Given the description of an element on the screen output the (x, y) to click on. 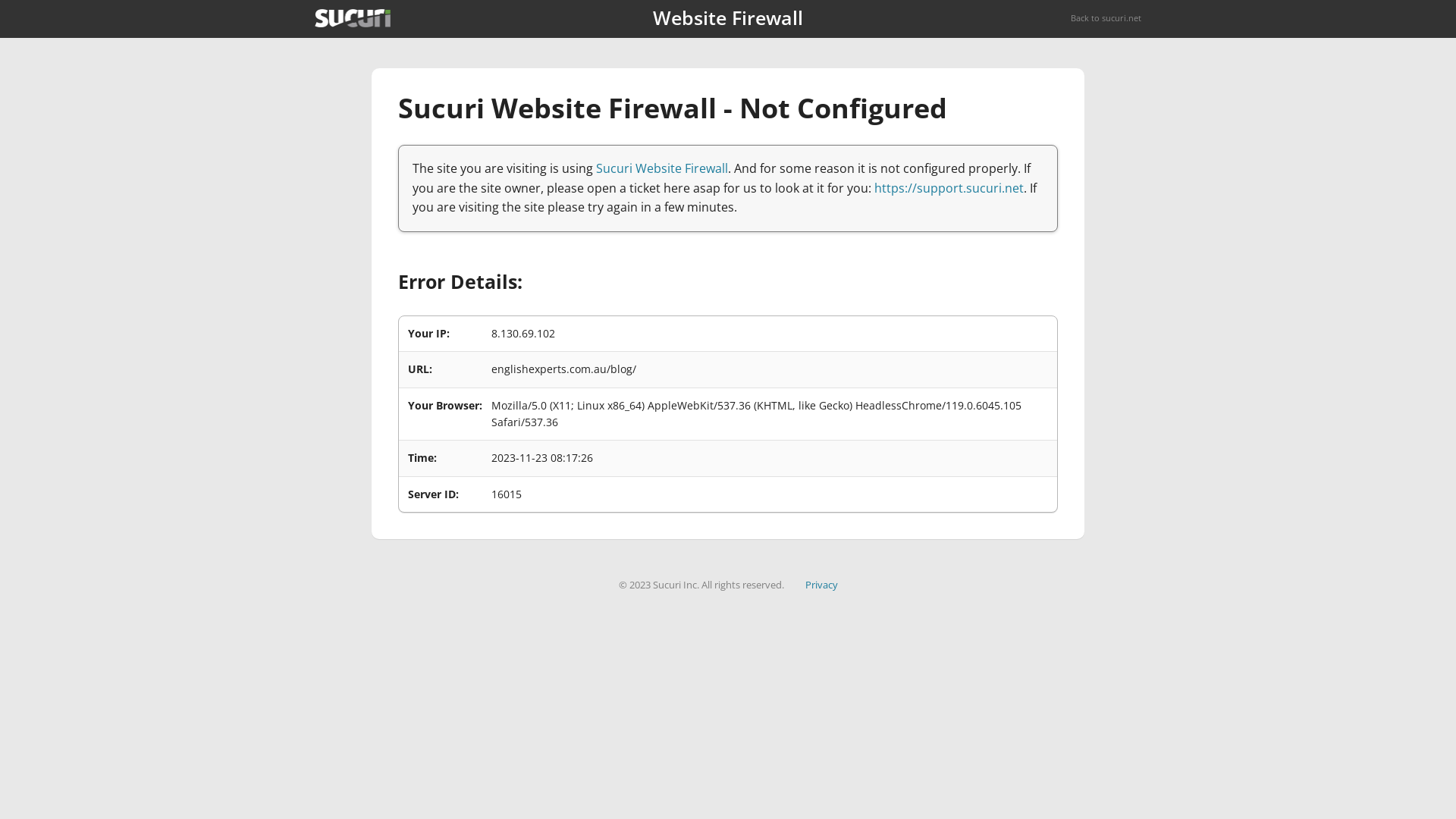
https://support.sucuri.net Element type: text (948, 187)
Privacy Element type: text (821, 584)
Sucuri Website Firewall Element type: text (662, 168)
Back to sucuri.net Element type: text (1105, 18)
